Given the description of an element on the screen output the (x, y) to click on. 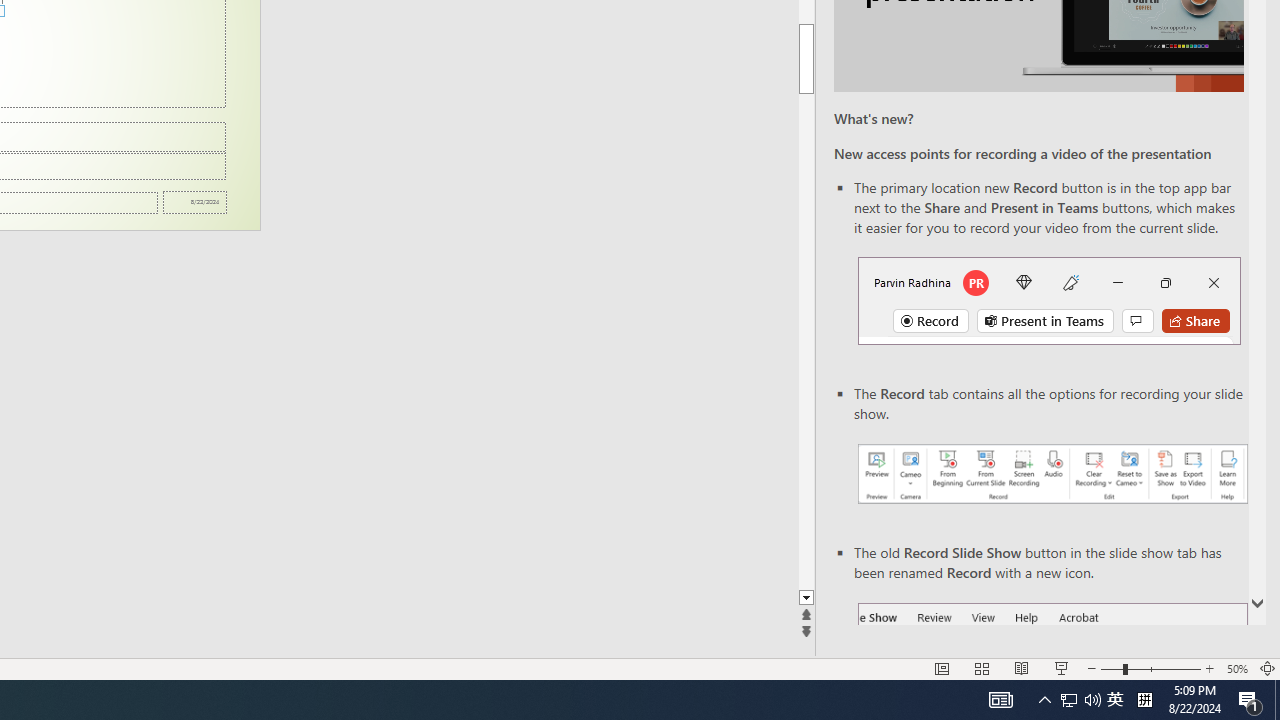
Zoom 50% (1236, 668)
Date (194, 201)
Record button in top bar (1049, 300)
Record your presentations screenshot one (1052, 473)
